Given the description of an element on the screen output the (x, y) to click on. 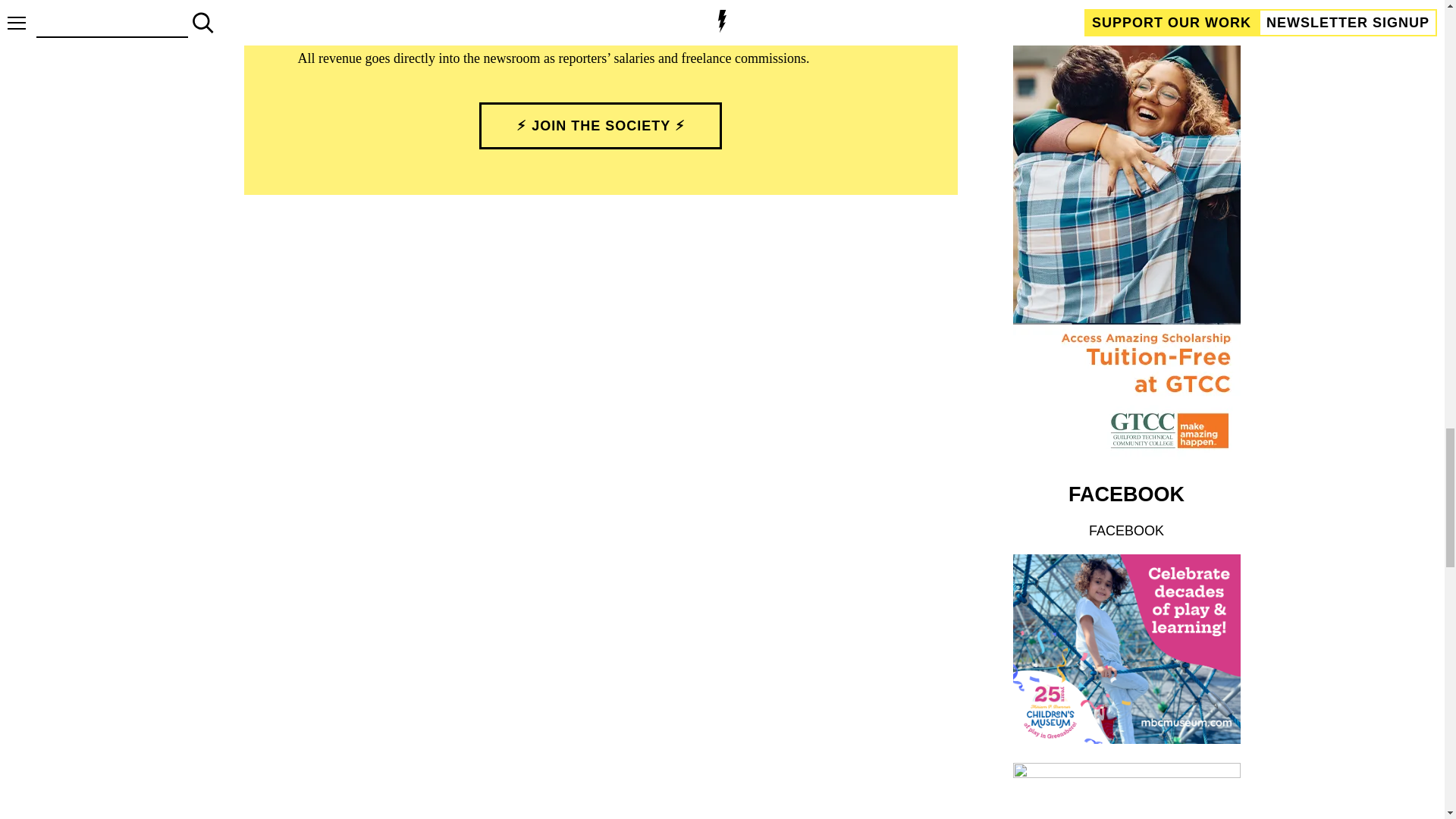
FACEBOOK (1126, 530)
FACEBOOK (1126, 494)
